Given the description of an element on the screen output the (x, y) to click on. 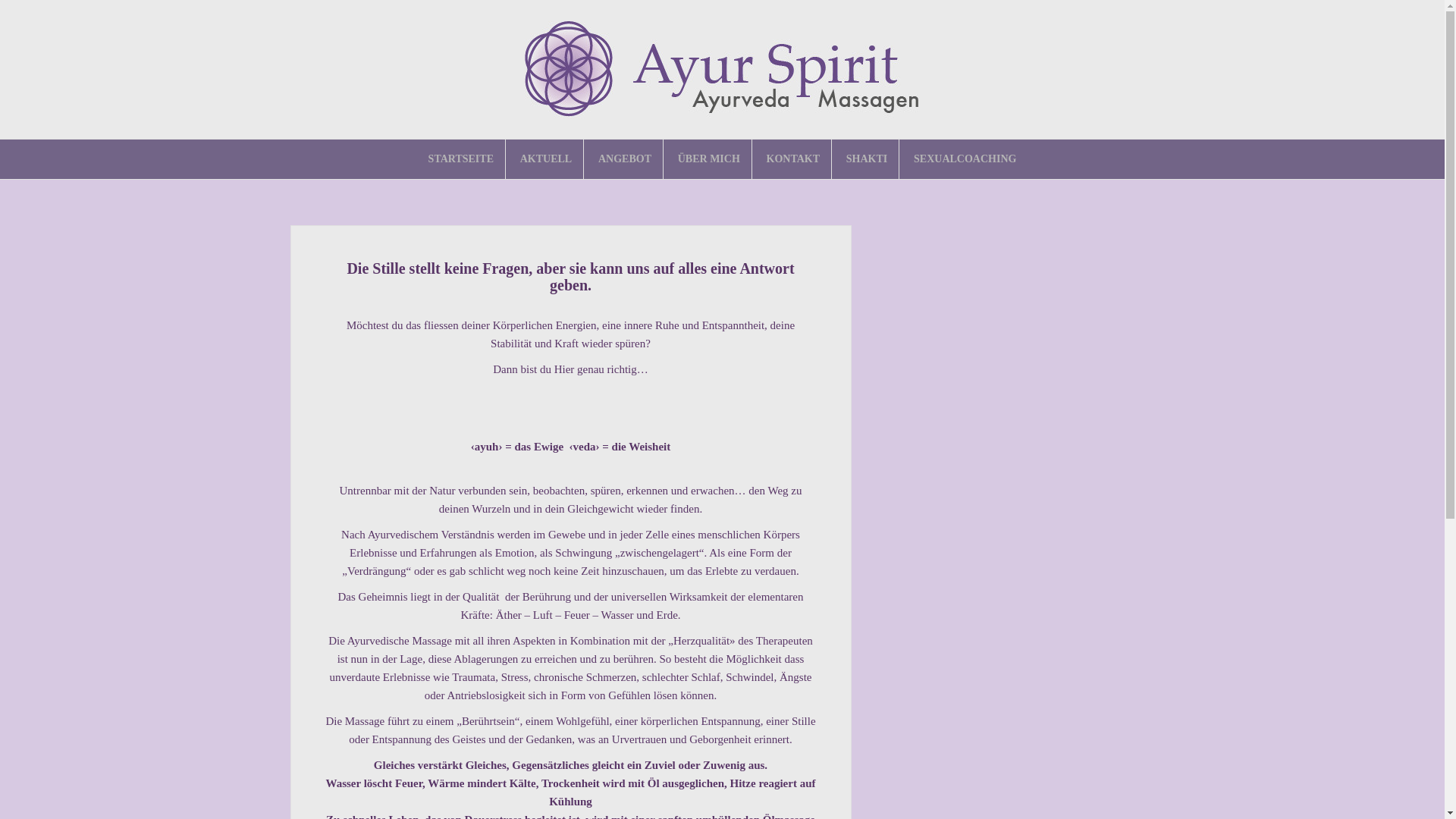
SHAKTI Element type: text (866, 158)
STARTSEITE Element type: text (460, 158)
SEXUALCOACHING Element type: text (964, 158)
AKTUELL Element type: text (545, 158)
KONTAKT Element type: text (793, 158)
ANGEBOT Element type: text (624, 158)
